Given the description of an element on the screen output the (x, y) to click on. 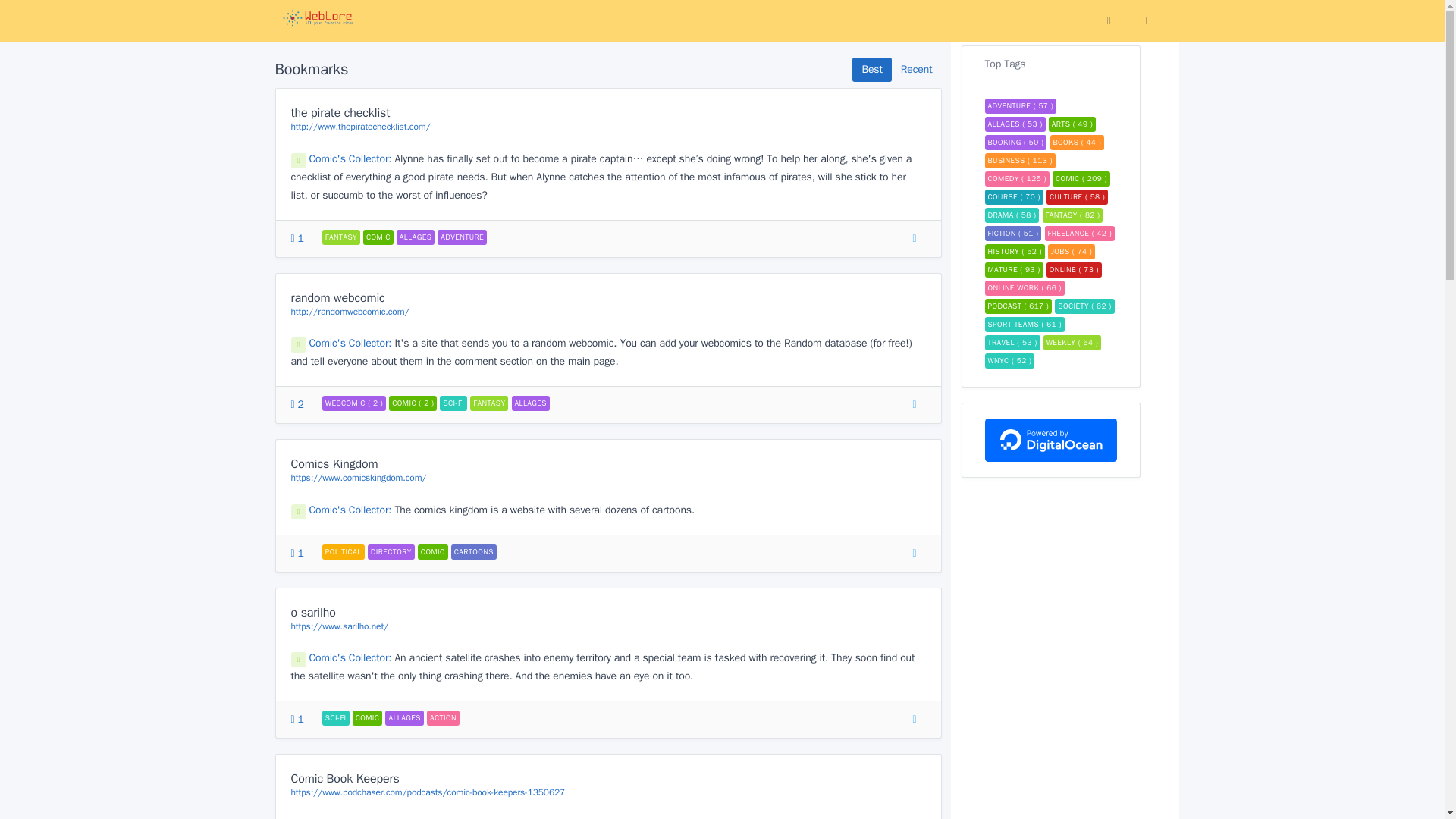
Comics Kingdom (334, 463)
COMIC (377, 237)
ACTION (443, 717)
Comic's Collector: (342, 657)
SCI-FI (453, 403)
Best (871, 69)
Comic's Collector: (342, 342)
Login (1144, 21)
ALLAGES (529, 403)
ADVENTURE (462, 237)
COMIC (432, 551)
ALLAGES (404, 717)
